Given the description of an element on the screen output the (x, y) to click on. 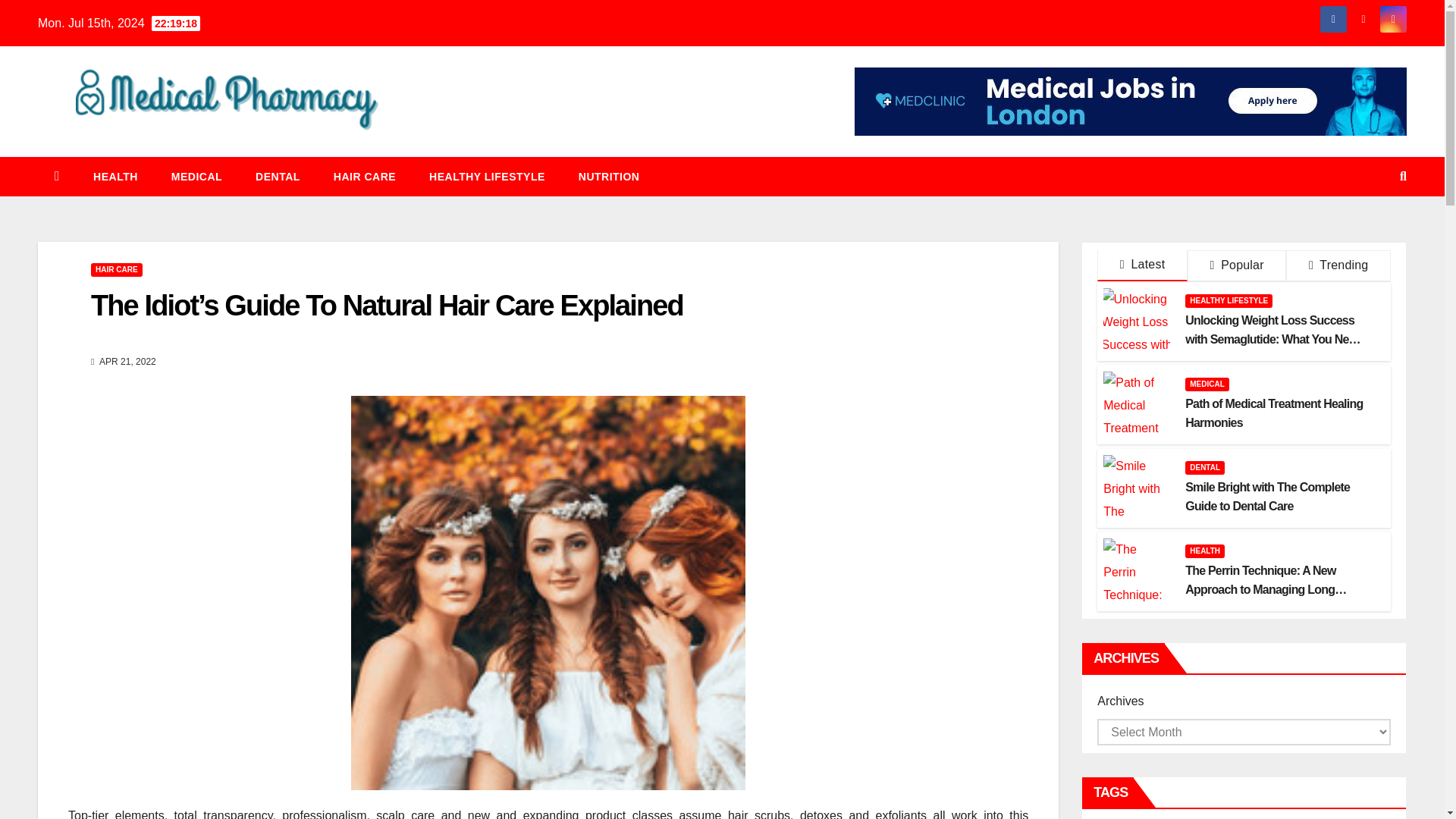
MEDICAL (196, 176)
Trending (1337, 265)
Latest (1142, 265)
HAIR CARE (116, 269)
Healthy Lifestyle (487, 176)
Dental (277, 176)
Nutrition (609, 176)
HAIR CARE (364, 176)
Health (115, 176)
NUTRITION (609, 176)
DENTAL (277, 176)
Popular (1236, 265)
Hair Care (364, 176)
HEALTHY LIFESTYLE (487, 176)
